Given the description of an element on the screen output the (x, y) to click on. 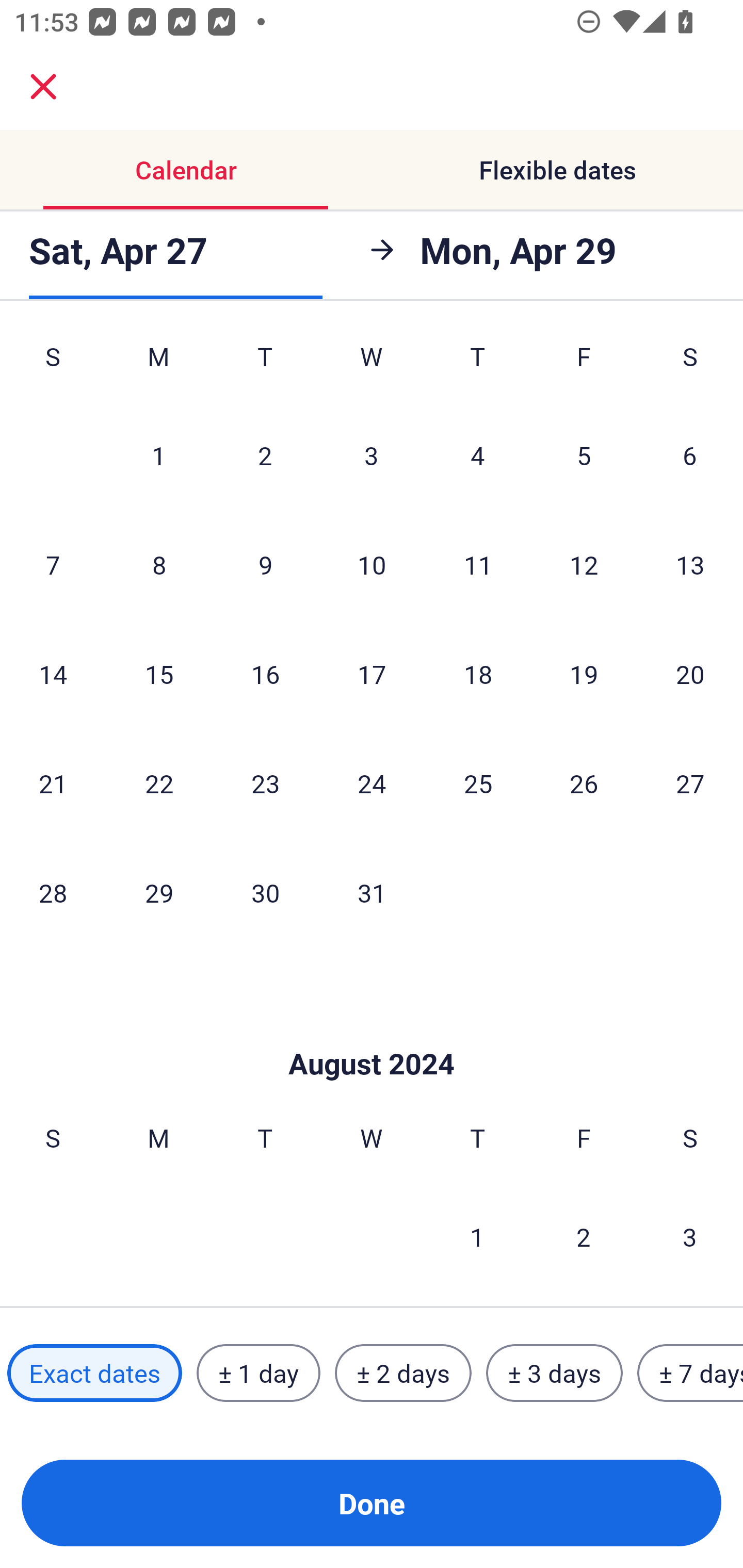
close. (43, 86)
Flexible dates (557, 170)
1 Monday, July 1, 2024 (158, 455)
2 Tuesday, July 2, 2024 (264, 455)
3 Wednesday, July 3, 2024 (371, 455)
4 Thursday, July 4, 2024 (477, 455)
5 Friday, July 5, 2024 (583, 455)
6 Saturday, July 6, 2024 (689, 455)
7 Sunday, July 7, 2024 (53, 564)
8 Monday, July 8, 2024 (159, 564)
9 Tuesday, July 9, 2024 (265, 564)
10 Wednesday, July 10, 2024 (371, 564)
11 Thursday, July 11, 2024 (477, 564)
12 Friday, July 12, 2024 (584, 564)
13 Saturday, July 13, 2024 (690, 564)
14 Sunday, July 14, 2024 (53, 672)
15 Monday, July 15, 2024 (159, 672)
16 Tuesday, July 16, 2024 (265, 672)
17 Wednesday, July 17, 2024 (371, 672)
18 Thursday, July 18, 2024 (477, 672)
19 Friday, July 19, 2024 (584, 672)
20 Saturday, July 20, 2024 (690, 672)
21 Sunday, July 21, 2024 (53, 782)
22 Monday, July 22, 2024 (159, 782)
23 Tuesday, July 23, 2024 (265, 782)
24 Wednesday, July 24, 2024 (371, 782)
25 Thursday, July 25, 2024 (477, 782)
26 Friday, July 26, 2024 (584, 782)
27 Saturday, July 27, 2024 (690, 782)
28 Sunday, July 28, 2024 (53, 892)
29 Monday, July 29, 2024 (159, 892)
30 Tuesday, July 30, 2024 (265, 892)
31 Wednesday, July 31, 2024 (371, 892)
Skip to Done (371, 1033)
1 Thursday, August 1, 2024 (477, 1235)
2 Friday, August 2, 2024 (583, 1235)
3 Saturday, August 3, 2024 (689, 1235)
Exact dates (94, 1372)
± 1 day (258, 1372)
± 2 days (403, 1372)
± 3 days (553, 1372)
± 7 days (690, 1372)
Done (371, 1502)
